Given the description of an element on the screen output the (x, y) to click on. 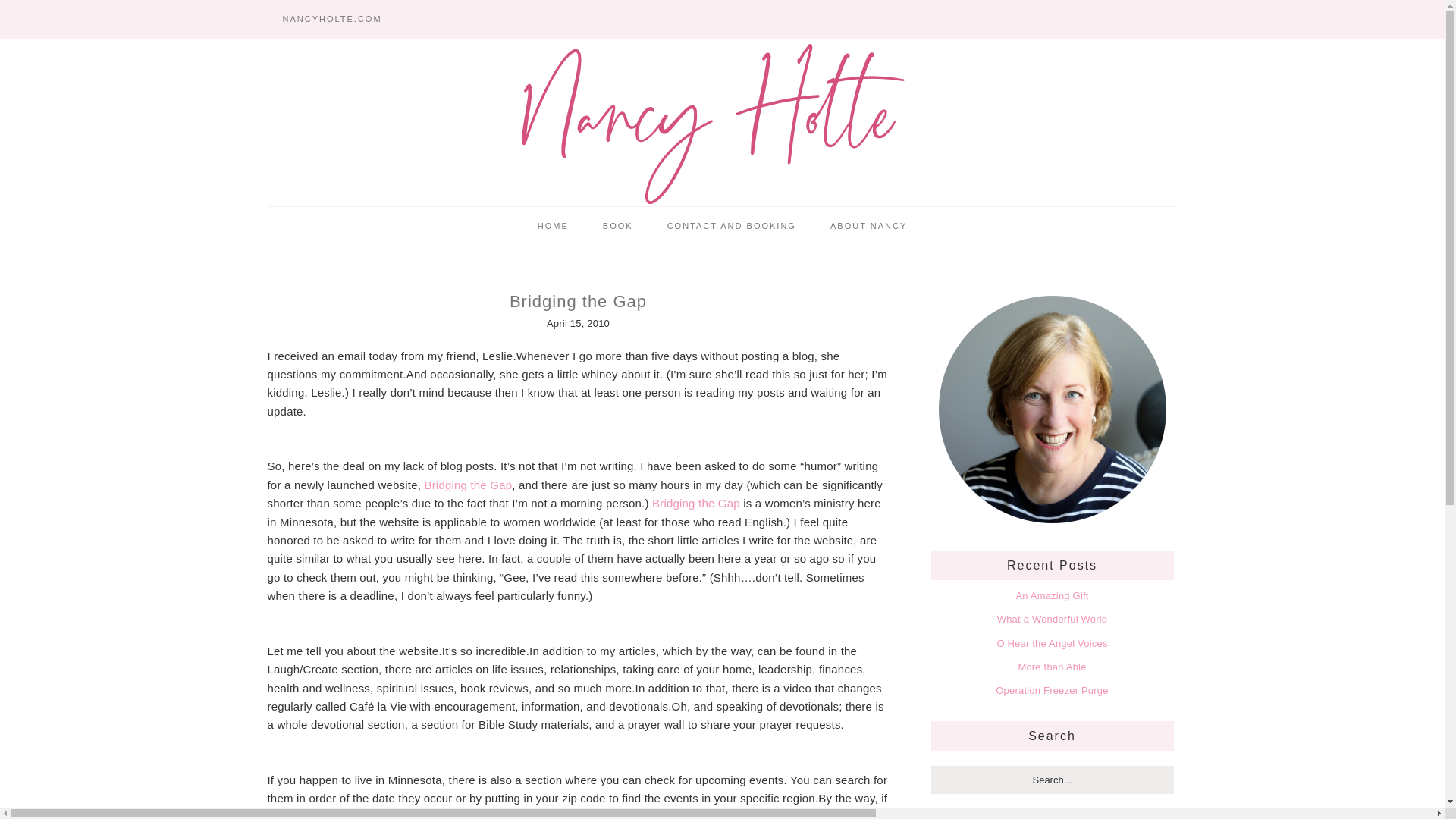
More than Able (1051, 666)
HOME (552, 226)
What a Wonderful World (1052, 618)
ABOUT NANCY (868, 226)
Bridging the Gap (467, 484)
Operation Freezer Purge (1051, 690)
BOOK (617, 226)
CONTACT AND BOOKING (731, 226)
O Hear the Angel Voices (1050, 643)
Bridging the Gap (695, 502)
An Amazing Gift (1050, 595)
NANCYHOLTE.COM (331, 19)
